Given the description of an element on the screen output the (x, y) to click on. 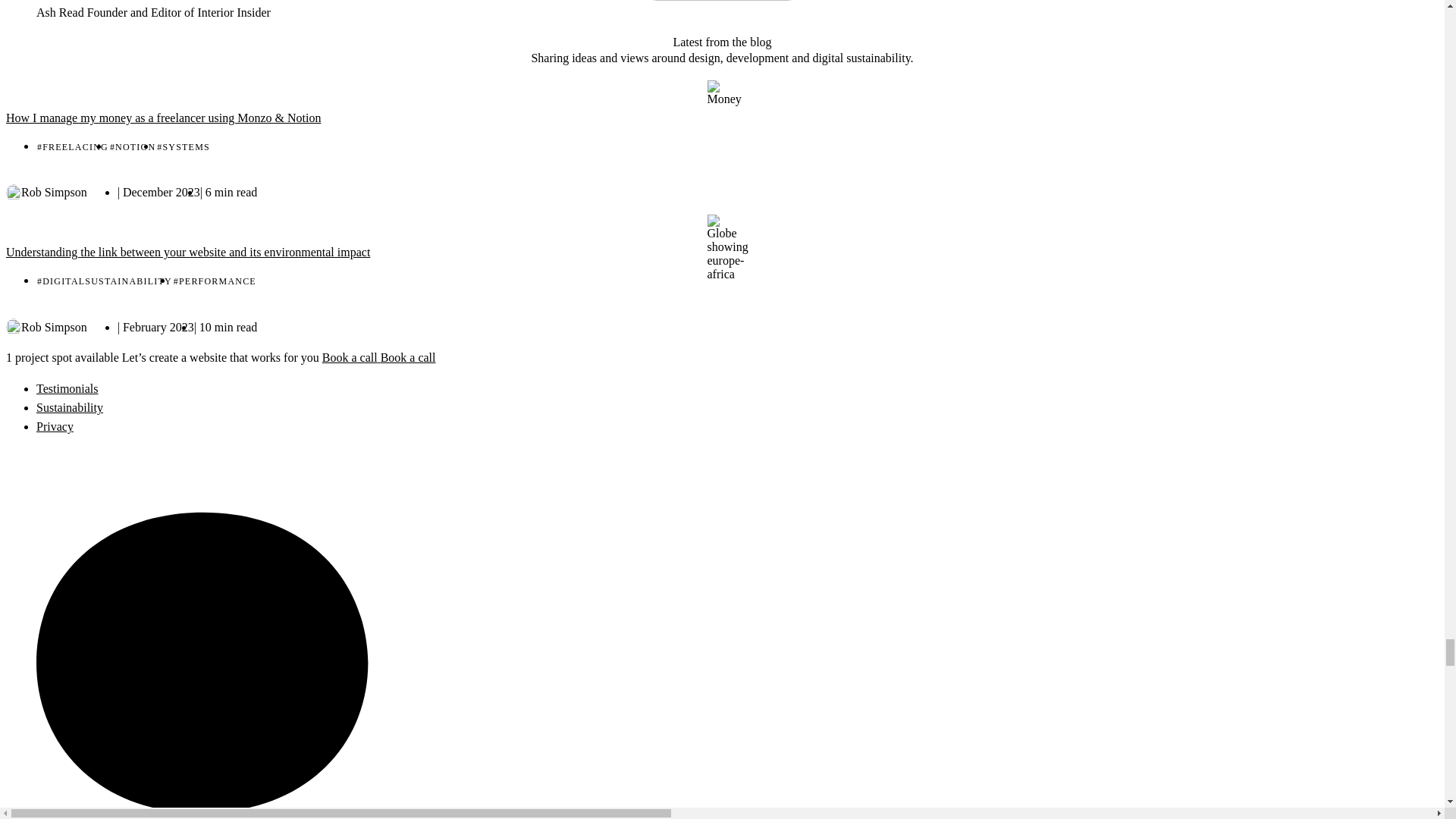
Book a call Book a call (888, 359)
Sustainability (69, 407)
Testimonials (67, 388)
Privacy (55, 426)
